Given the description of an element on the screen output the (x, y) to click on. 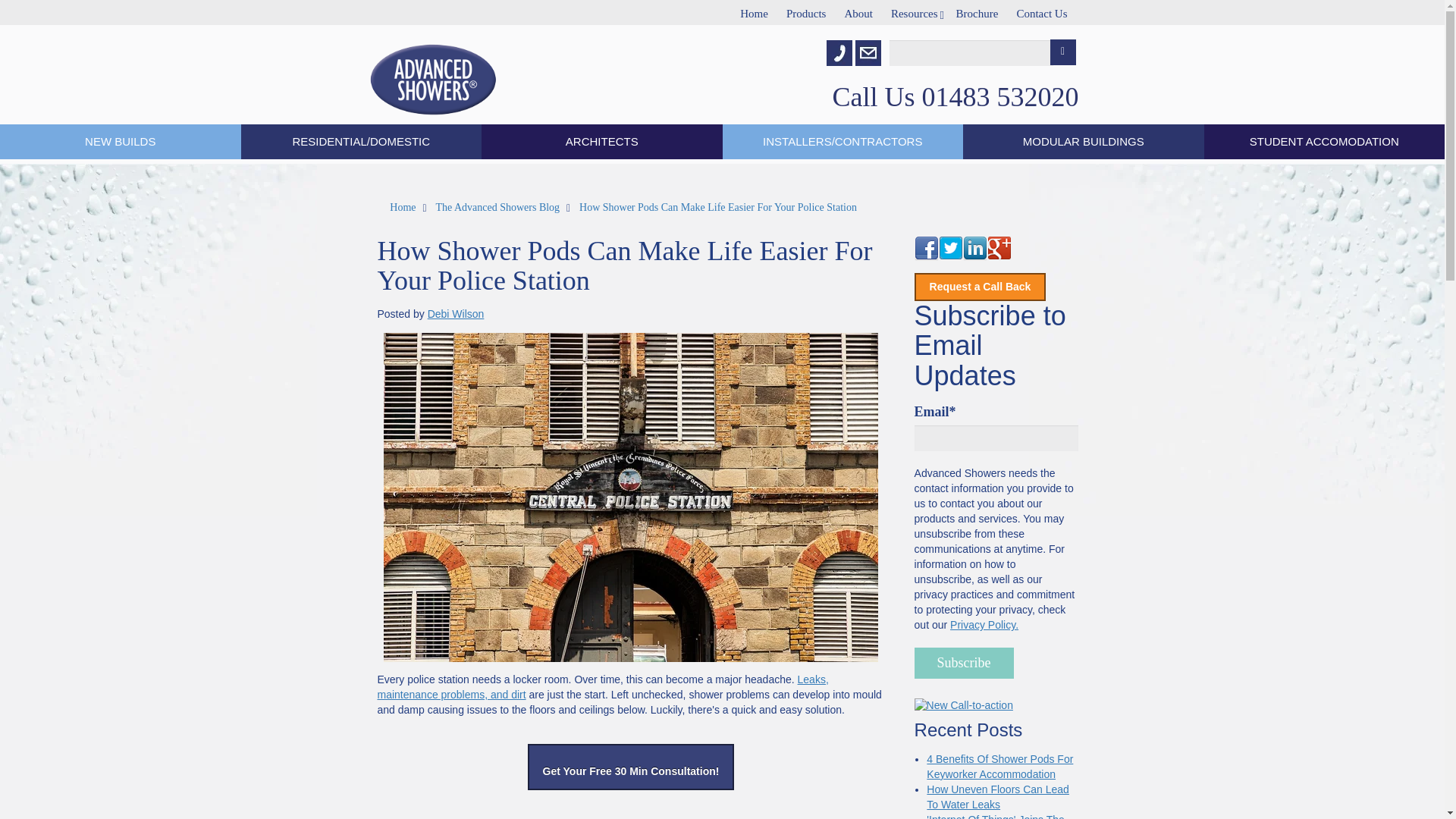
ARCHITECTS (601, 141)
Subscribe (963, 662)
Follow us on Facebook (926, 248)
Debi Wilson (456, 313)
Resources (914, 11)
Get Your Free 30 Min Consultation! (631, 766)
NEW BUILDS (120, 141)
About (858, 11)
Brochure (977, 11)
MODULAR BUILDINGS (1083, 141)
